Given the description of an element on the screen output the (x, y) to click on. 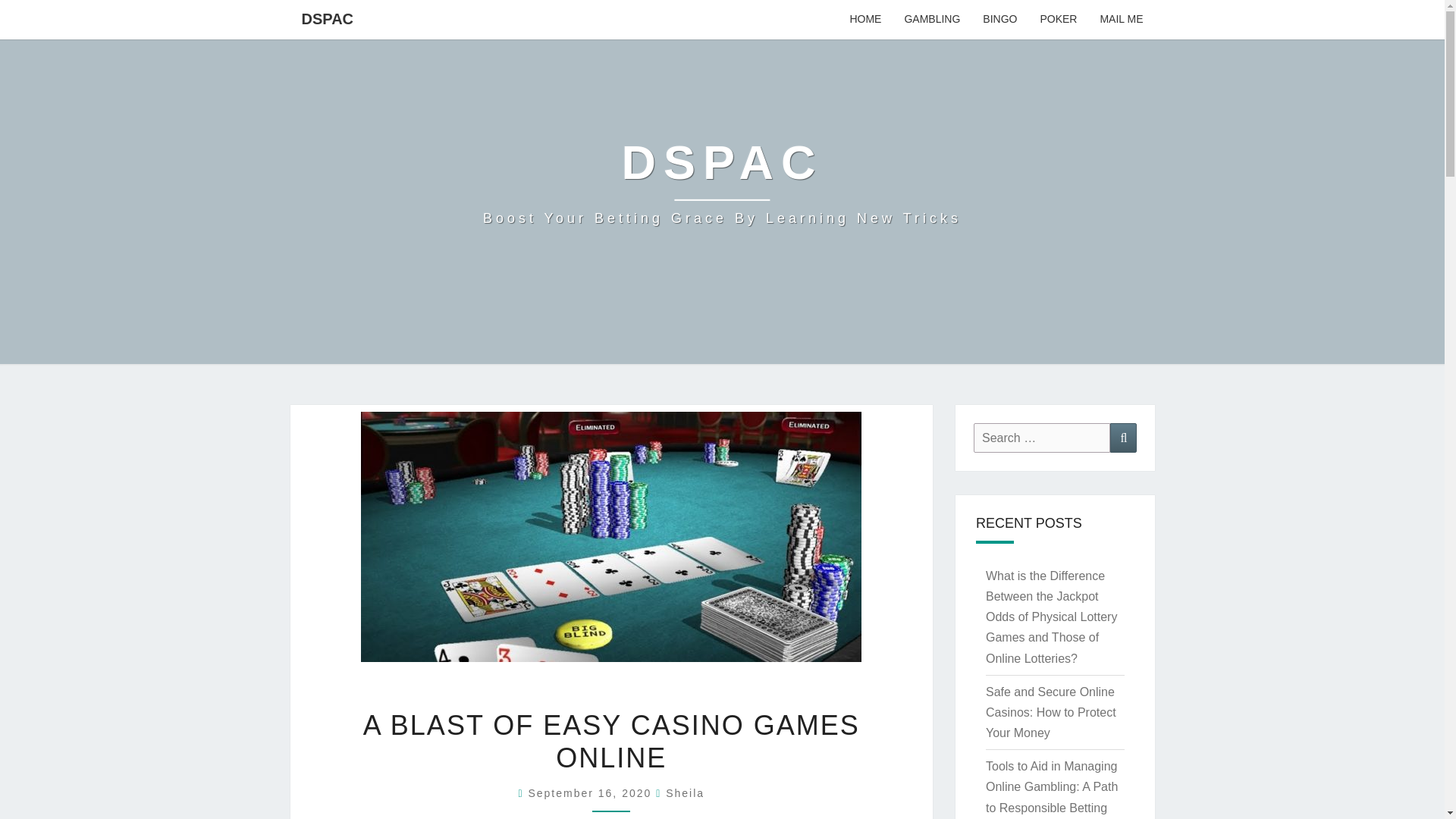
GAMBLING (931, 19)
DSPAC (327, 18)
MAIL ME (1120, 19)
Safe and Secure Online Casinos: How to Protect Your Money (1050, 712)
HOME (865, 19)
View all posts by Sheila (684, 793)
Search (1123, 437)
BINGO (999, 19)
Dspac (721, 182)
